Given the description of an element on the screen output the (x, y) to click on. 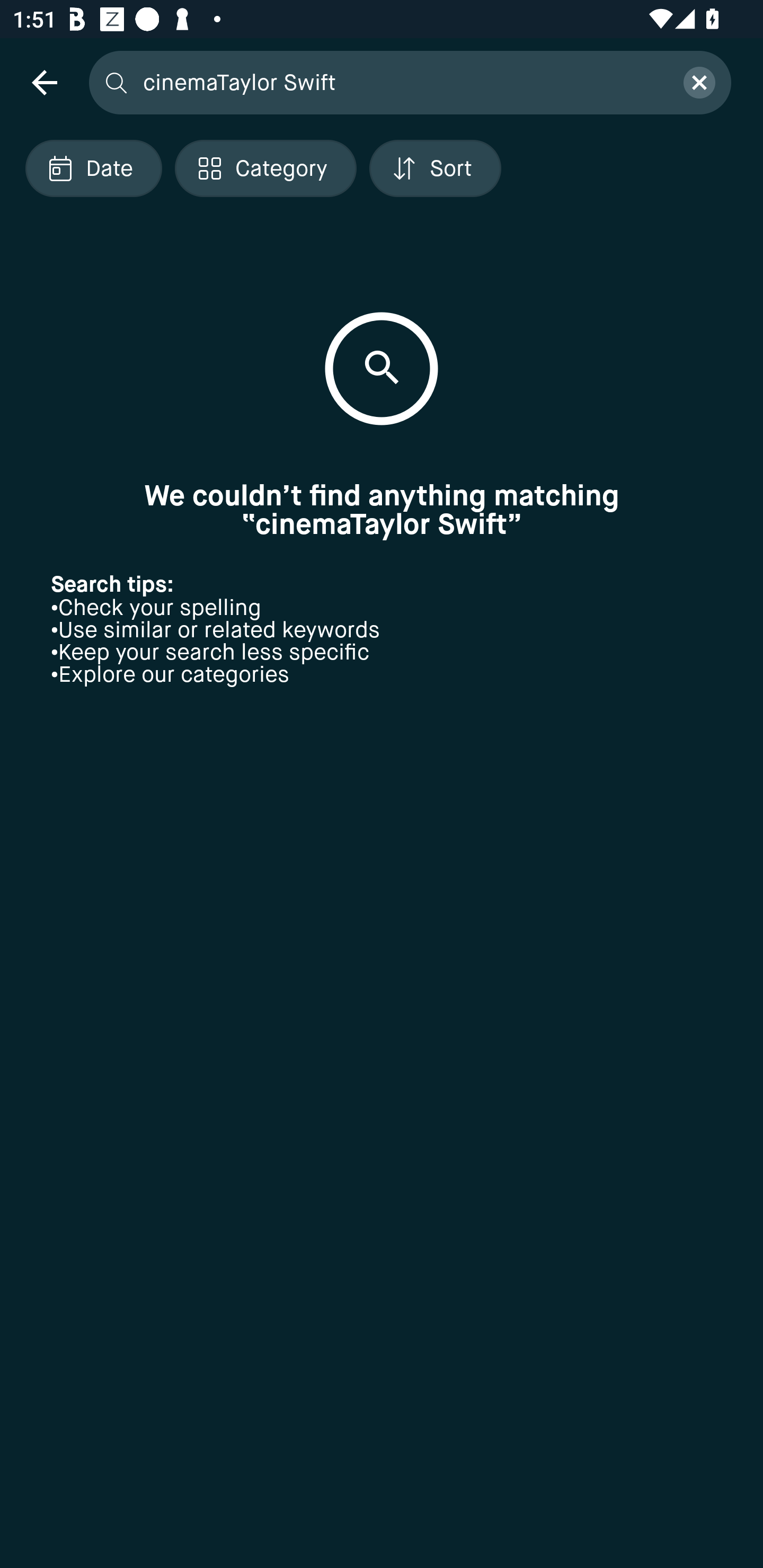
navigation icon (44, 81)
cinemaTaylor Swift (402, 81)
Localized description Date (93, 168)
Localized description Category (265, 168)
Localized description Sort (435, 168)
